Given the description of an element on the screen output the (x, y) to click on. 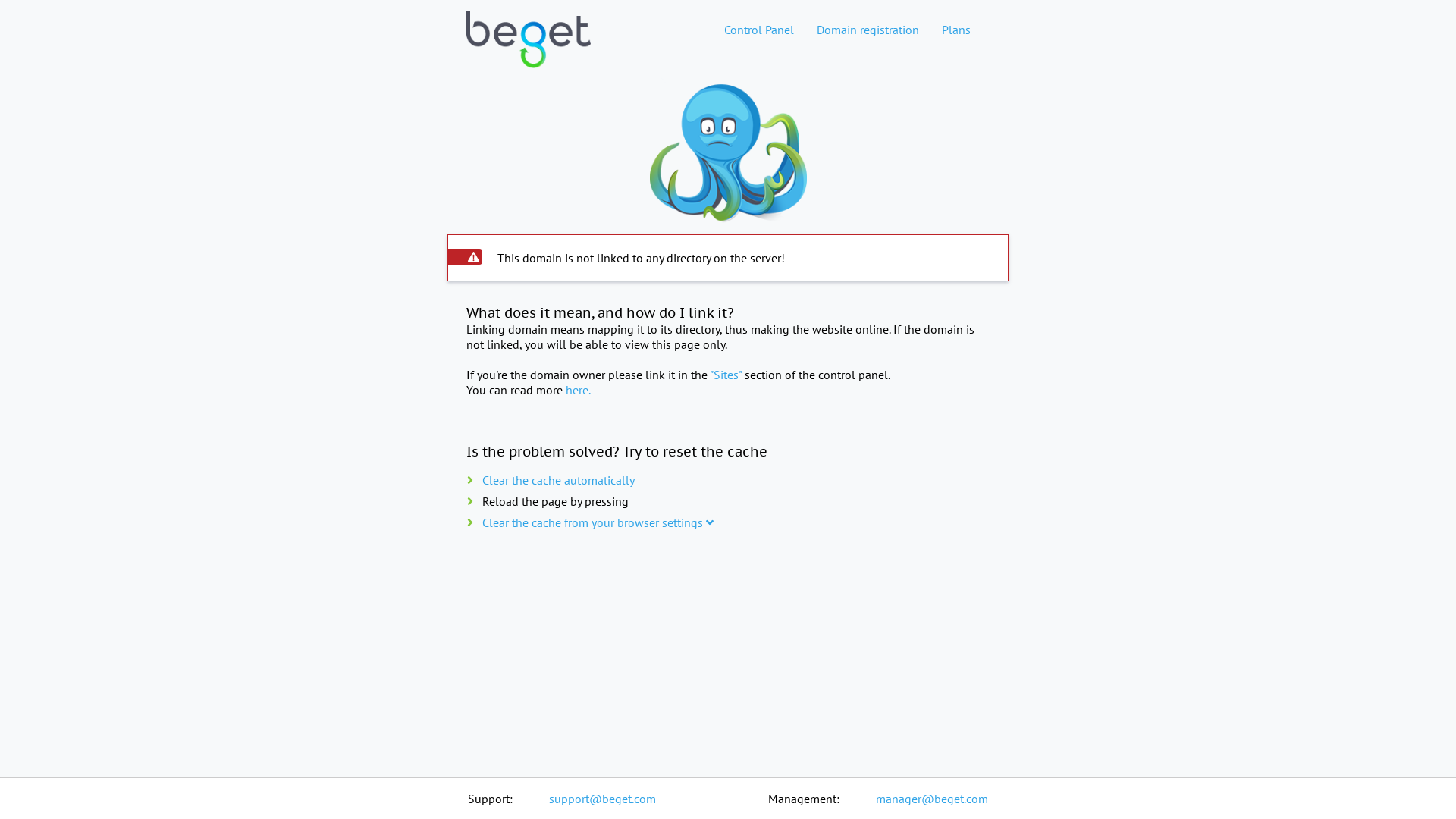
Web hosting home page Element type: hover (528, 51)
Plans Element type: text (956, 29)
manager@beget.com Element type: text (931, 798)
Control Panel Element type: text (758, 29)
support@beget.com Element type: text (602, 798)
Clear the cache from your browser settings Element type: text (597, 522)
Domain registration Element type: text (867, 29)
here. Element type: text (577, 389)
"Sites" Element type: text (725, 374)
Clear the cache automatically Element type: text (558, 479)
